Given the description of an element on the screen output the (x, y) to click on. 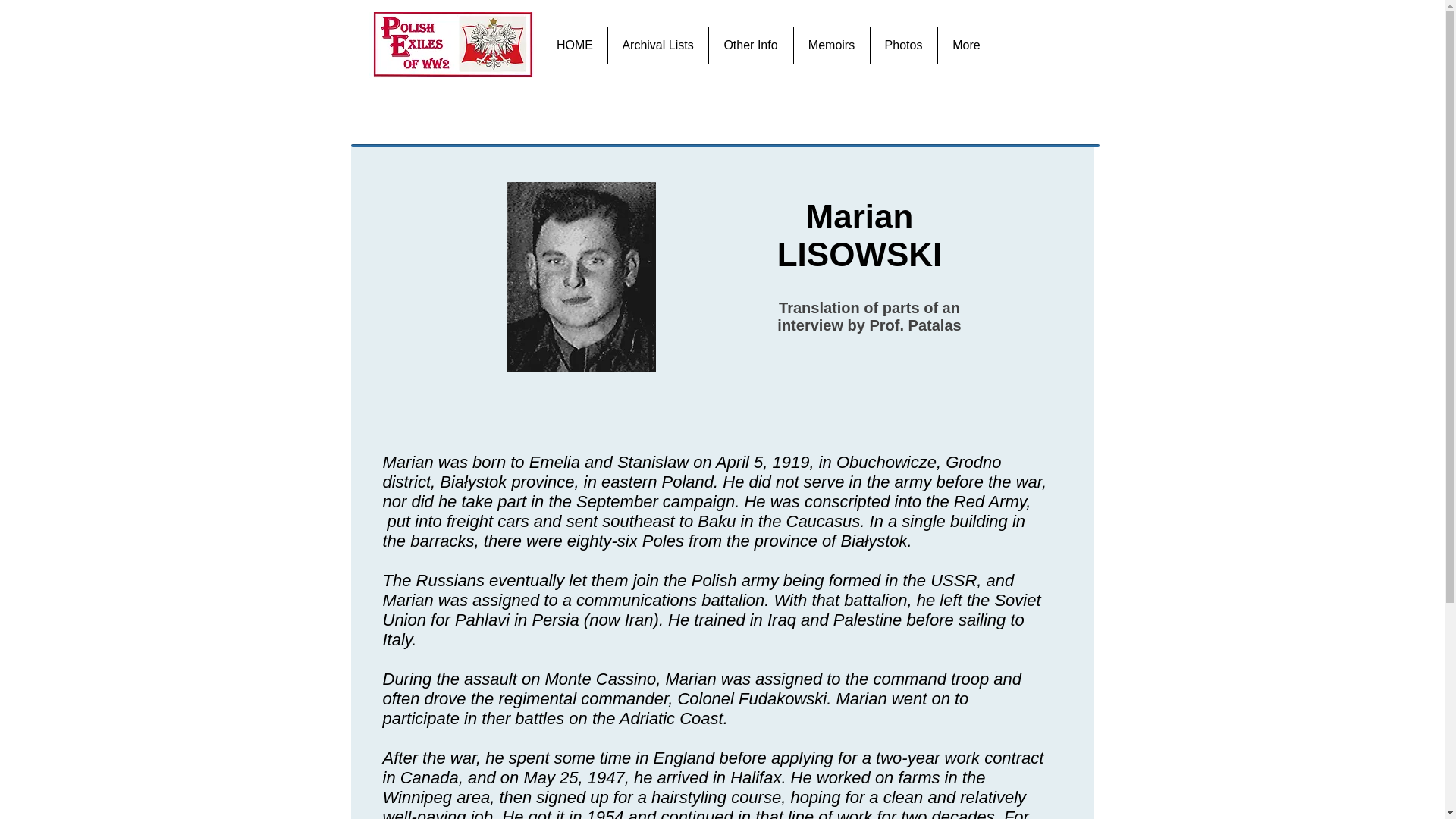
Archival Lists (657, 45)
Photos (902, 45)
Memoirs (831, 45)
HOME (575, 45)
Other Info (750, 45)
Facebook Like (1055, 45)
